Given the description of an element on the screen output the (x, y) to click on. 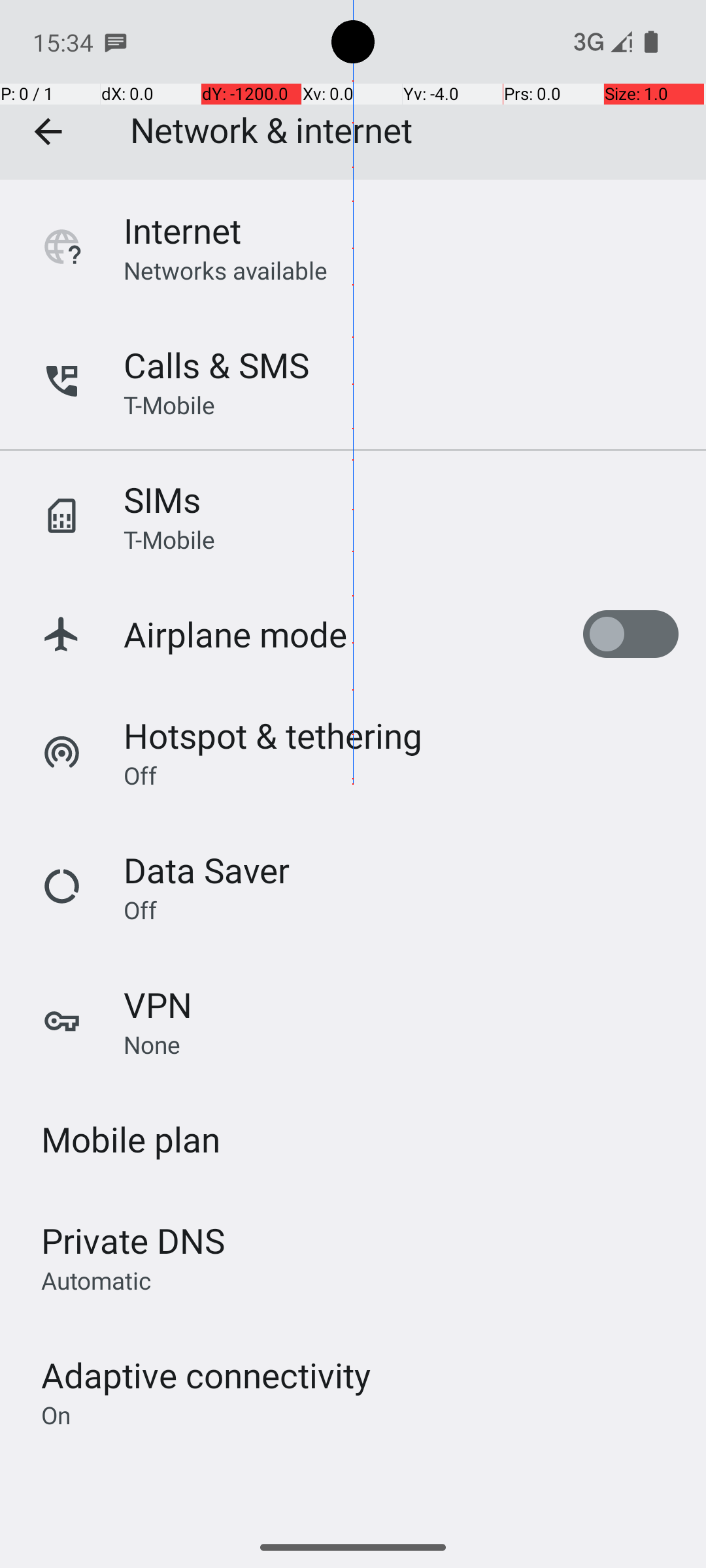
Internet Element type: android.widget.TextView (182, 230)
Networks available Element type: android.widget.TextView (225, 269)
Calls & SMS Element type: android.widget.TextView (216, 364)
T-Mobile Element type: android.widget.TextView (169, 404)
SIMs Element type: android.widget.TextView (161, 499)
Airplane mode Element type: android.widget.TextView (235, 633)
Hotspot & tethering Element type: android.widget.TextView (272, 735)
Data Saver Element type: android.widget.TextView (206, 869)
VPN Element type: android.widget.TextView (157, 1004)
Mobile plan Element type: android.widget.TextView (130, 1138)
Private DNS Element type: android.widget.TextView (132, 1240)
Automatic Element type: android.widget.TextView (96, 1279)
Adaptive connectivity Element type: android.widget.TextView (205, 1374)
